Given the description of an element on the screen output the (x, y) to click on. 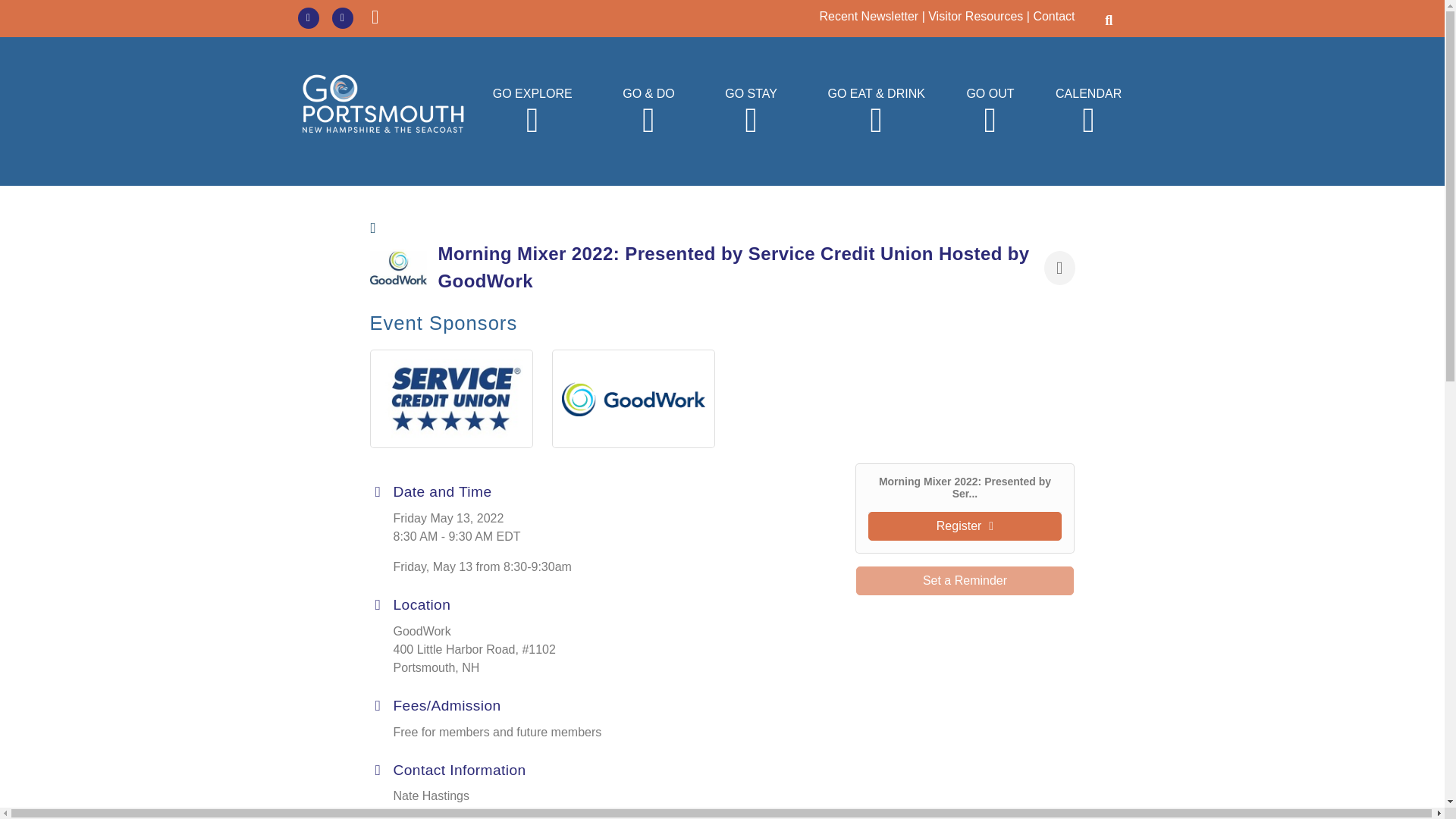
Visitor Resources (975, 15)
GO EXPLORE (531, 111)
Recent Newsletter (868, 15)
Contact (1053, 15)
